Given the description of an element on the screen output the (x, y) to click on. 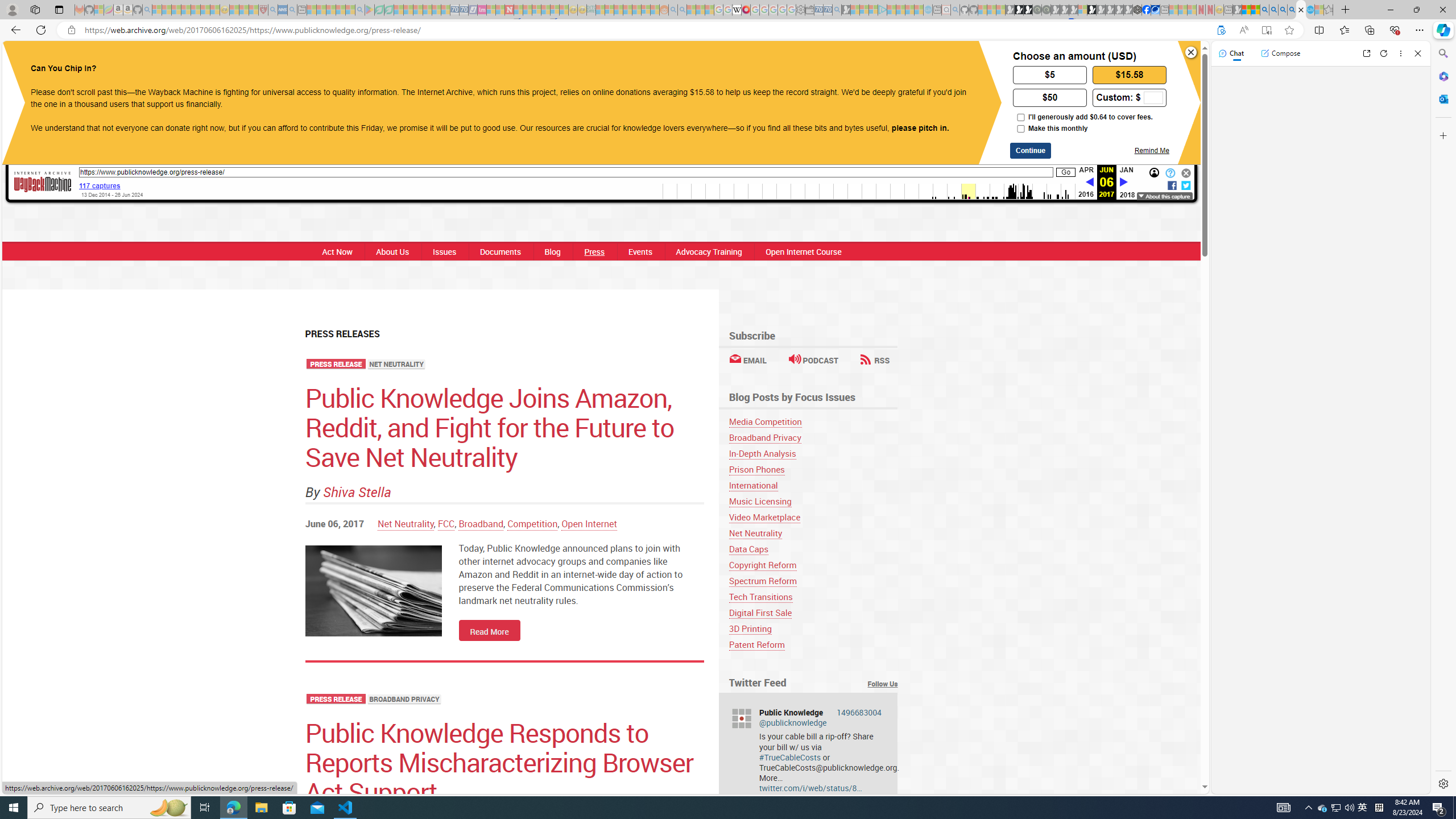
2009 Bing officially replaced Live Search on June 3 - Search (1272, 9)
Shiva Stella (357, 492)
Documents (500, 251)
Spectrum Reform (813, 580)
About Us (392, 251)
MediaWiki (745, 9)
